Given the description of an element on the screen output the (x, y) to click on. 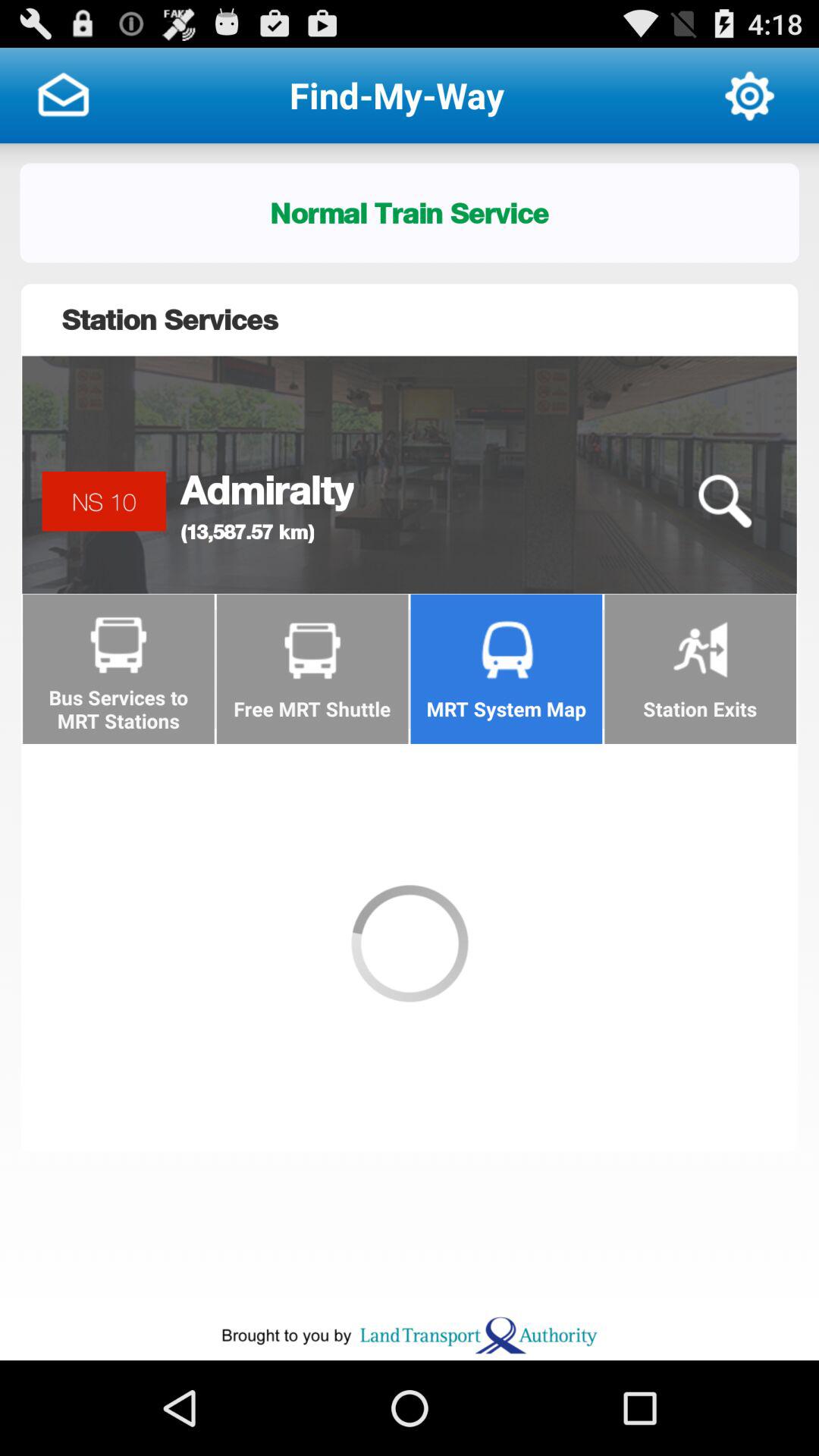
search stations (724, 501)
